Given the description of an element on the screen output the (x, y) to click on. 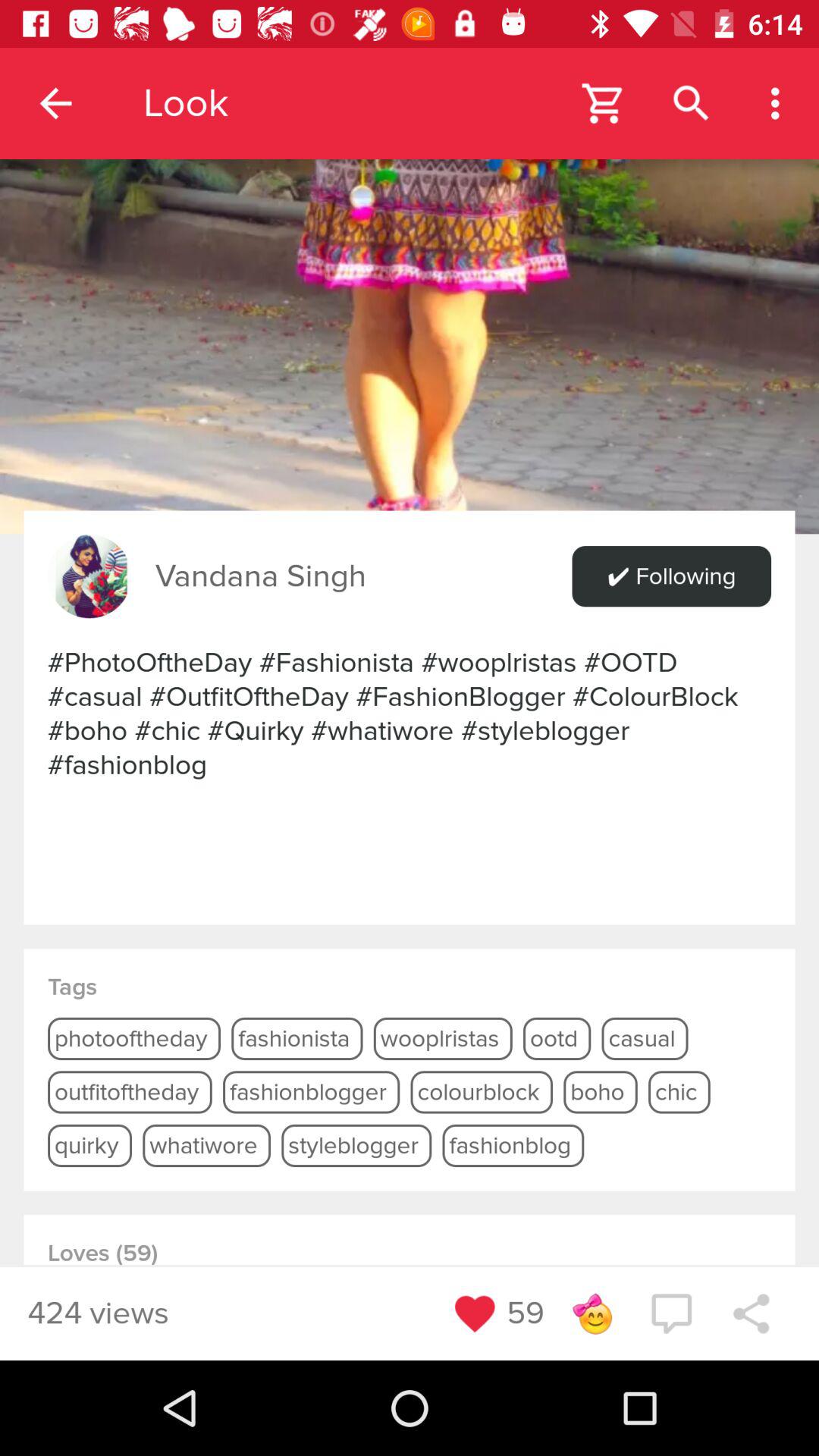
share photo (751, 1313)
